Given the description of an element on the screen output the (x, y) to click on. 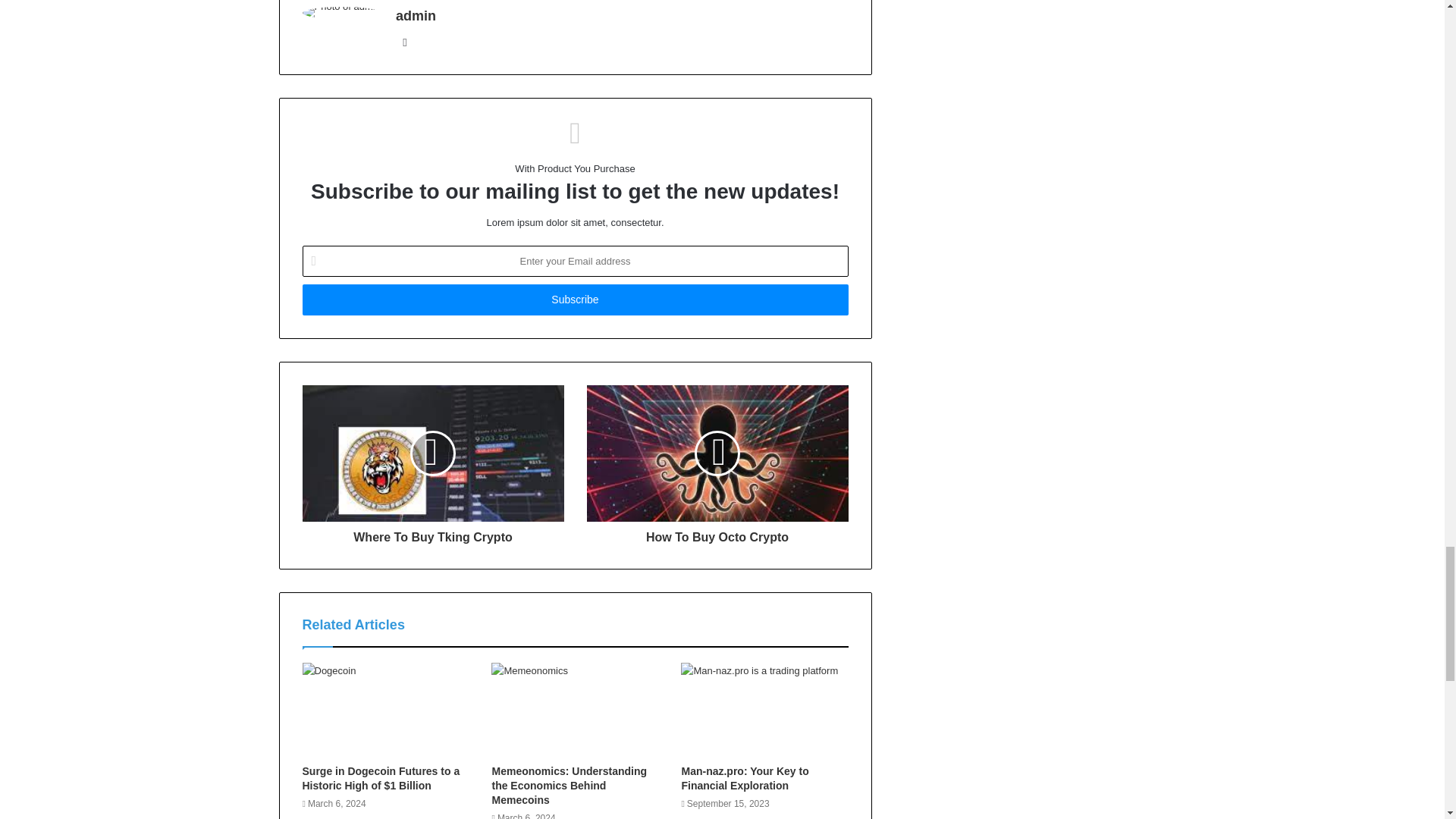
Subscribe (574, 299)
